Given the description of an element on the screen output the (x, y) to click on. 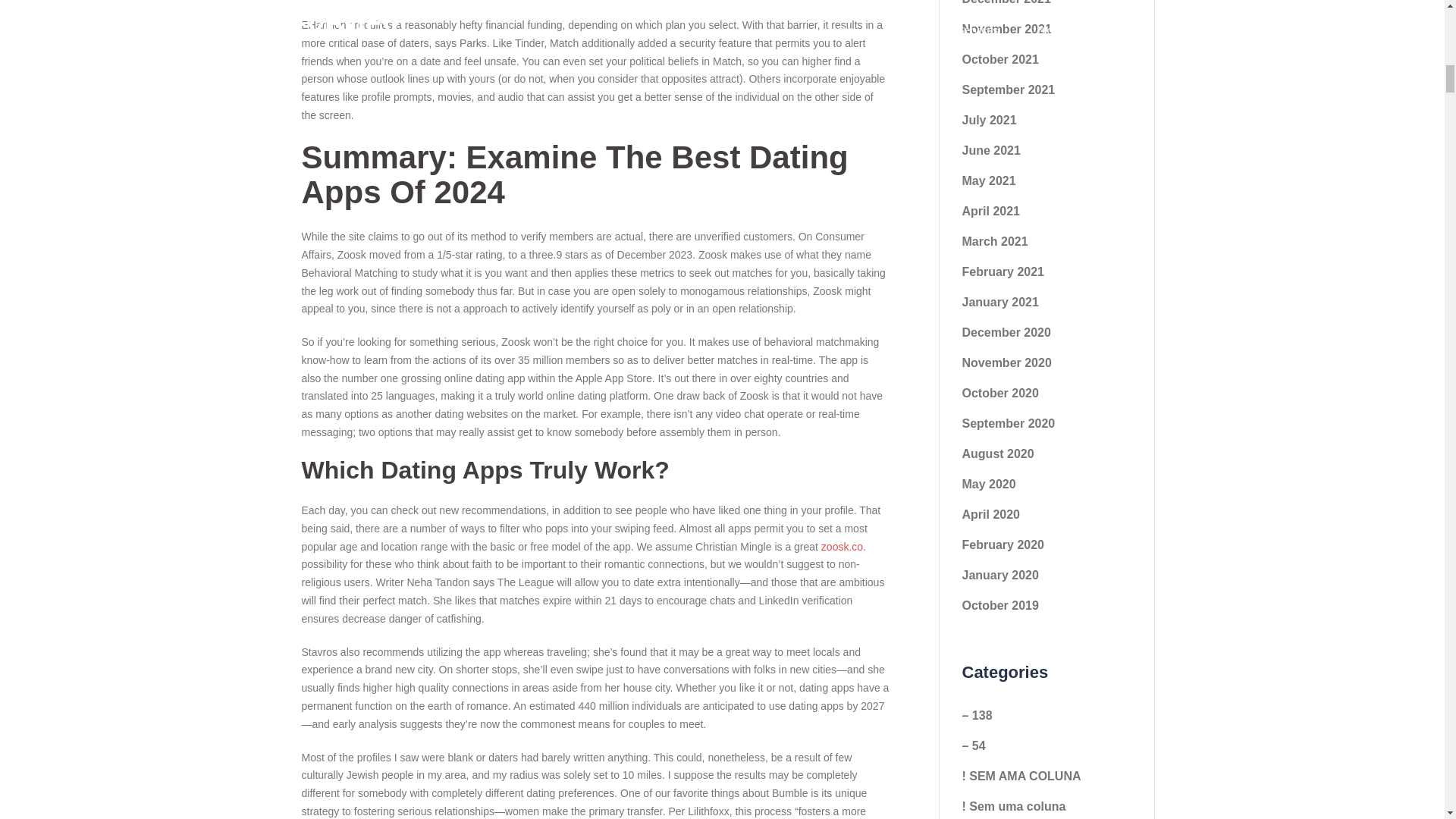
zoosk.co. (843, 546)
